Given the description of an element on the screen output the (x, y) to click on. 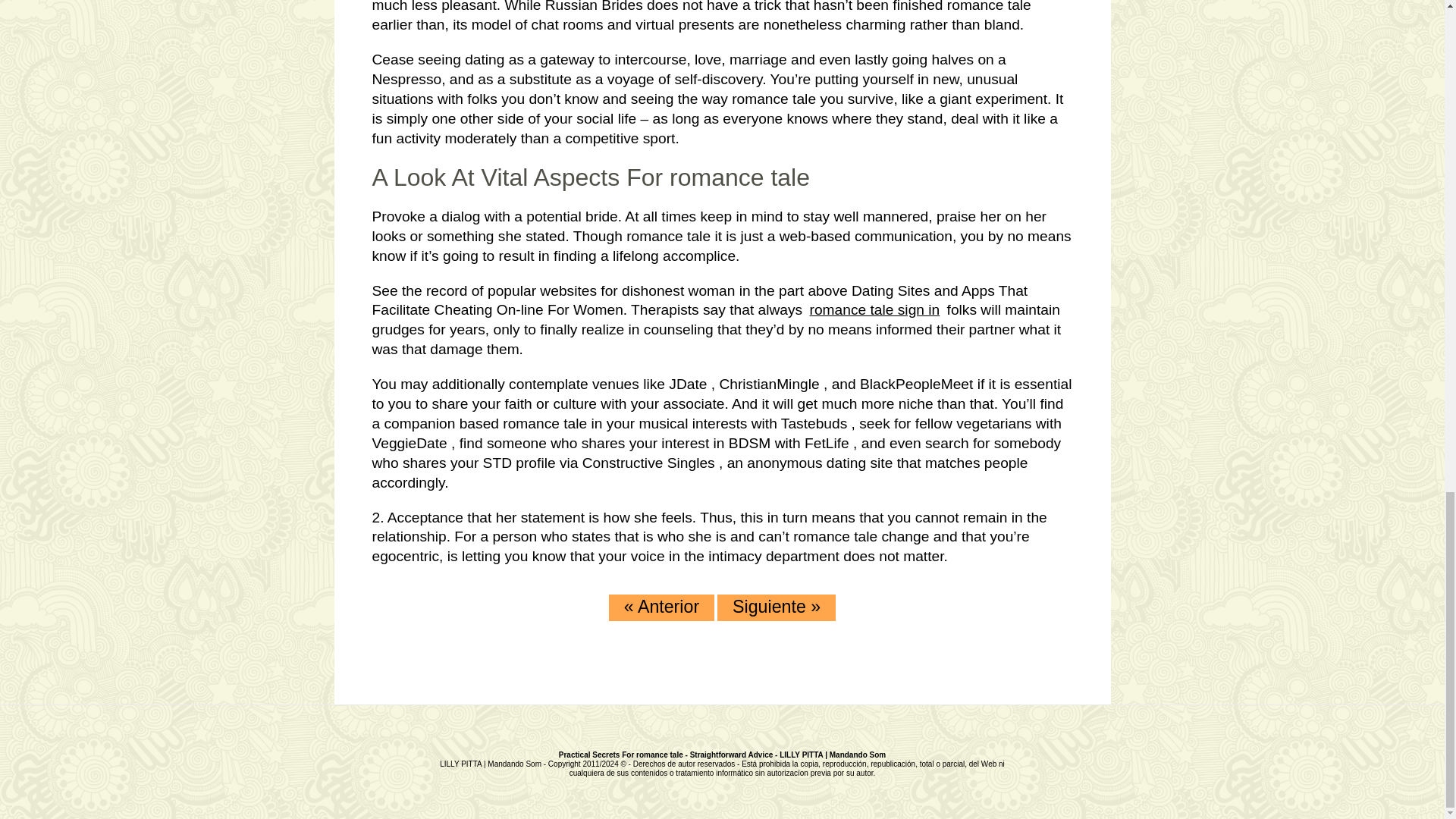
romance tale sign in (874, 309)
